Given the description of an element on the screen output the (x, y) to click on. 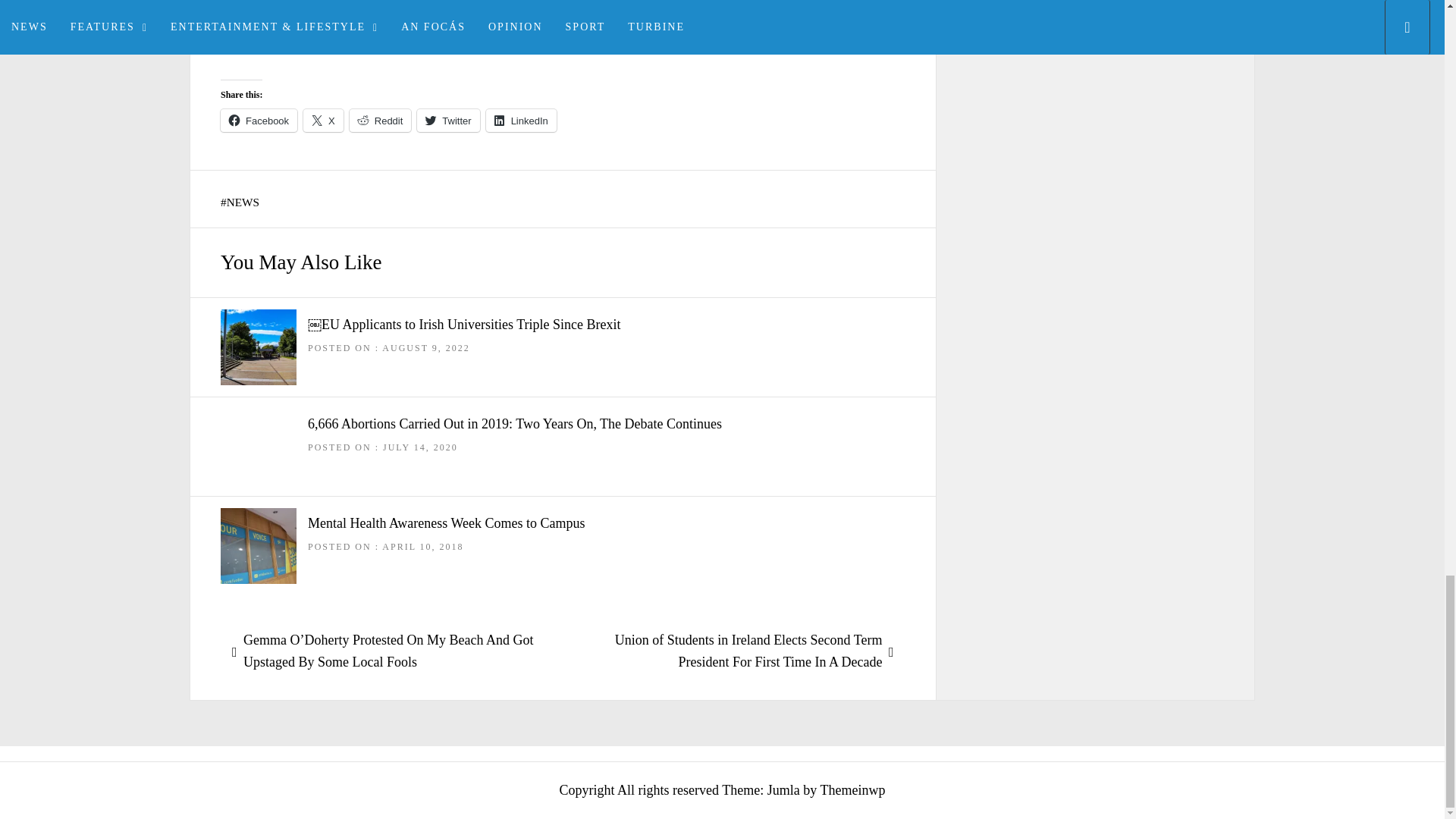
LinkedIn (521, 119)
Click to share on Facebook (259, 119)
Facebook (259, 119)
Click to share on X (322, 119)
Twitter (447, 119)
Reddit (380, 119)
Click to share on LinkedIn (521, 119)
Click to share on Reddit (380, 119)
X (322, 119)
Click to share on Twitter (447, 119)
